Given the description of an element on the screen output the (x, y) to click on. 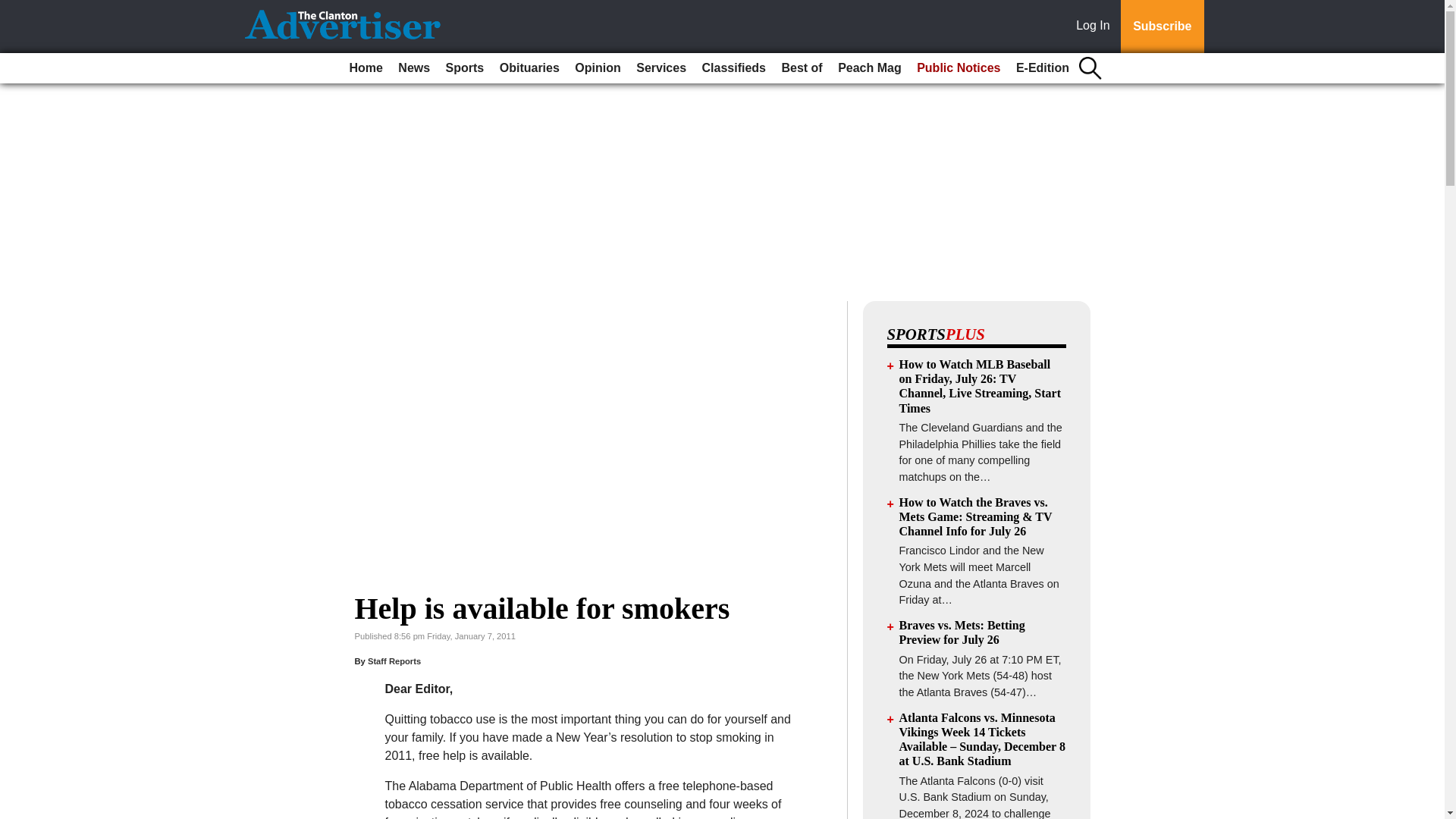
Peach Mag (869, 68)
Go (13, 9)
Staff Reports (394, 660)
Subscribe (1162, 26)
Classifieds (733, 68)
Opinion (597, 68)
Log In (1095, 26)
Obituaries (529, 68)
Sports (464, 68)
E-Edition (1042, 68)
Home (365, 68)
Best of (801, 68)
Public Notices (958, 68)
Braves vs. Mets: Betting Preview for July 26 (962, 632)
News (413, 68)
